Given the description of an element on the screen output the (x, y) to click on. 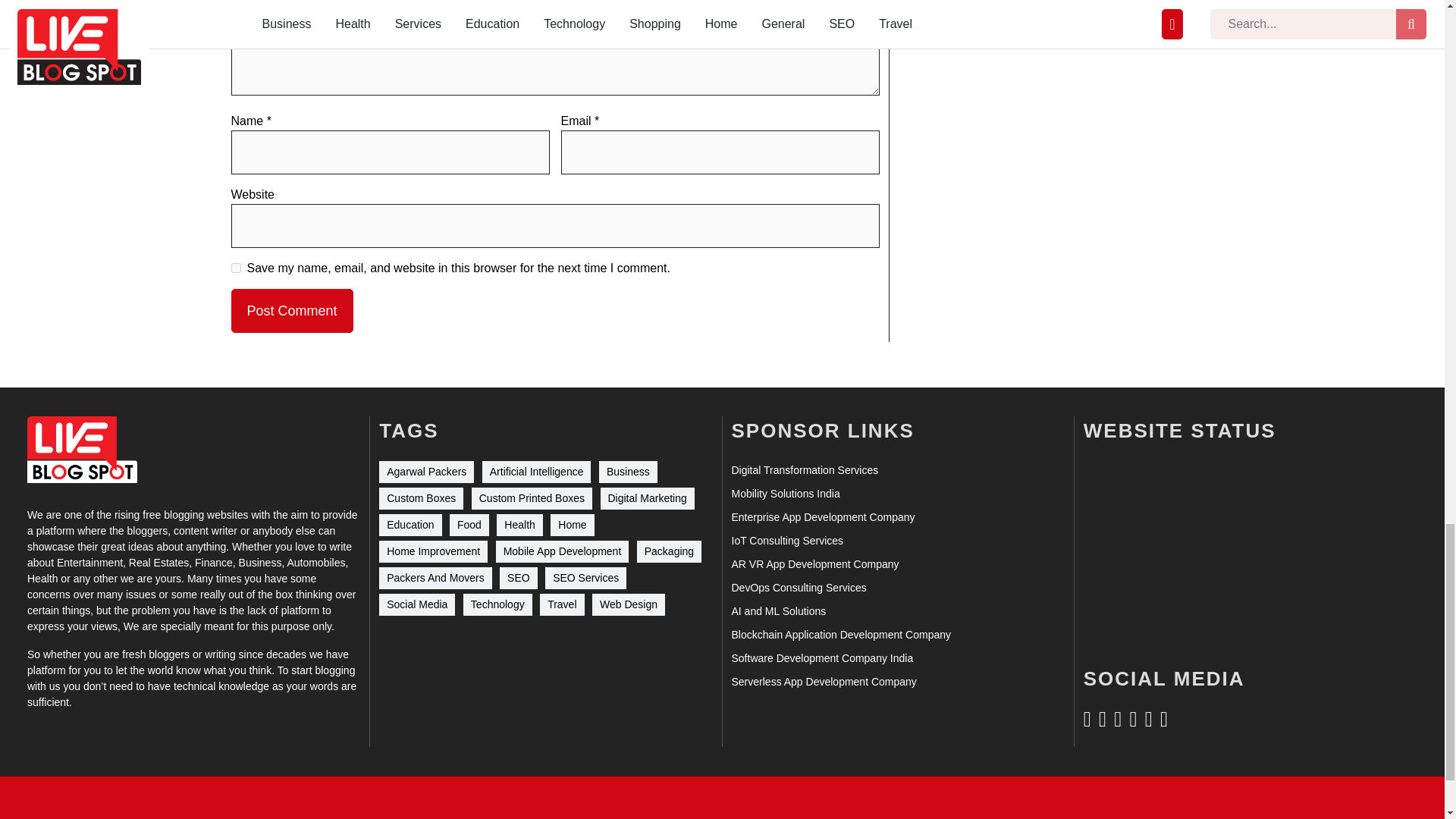
AR VR App Development Company (814, 564)
yes (235, 267)
Post Comment (291, 310)
Digital Transformation Services (803, 470)
Enterprise App Development Company (822, 517)
Live Blog Spot (81, 450)
IoT Consulting Services (786, 540)
Mobility Solutions India (785, 494)
Post Comment (291, 310)
DevOps Consulting Services (798, 587)
